Given the description of an element on the screen output the (x, y) to click on. 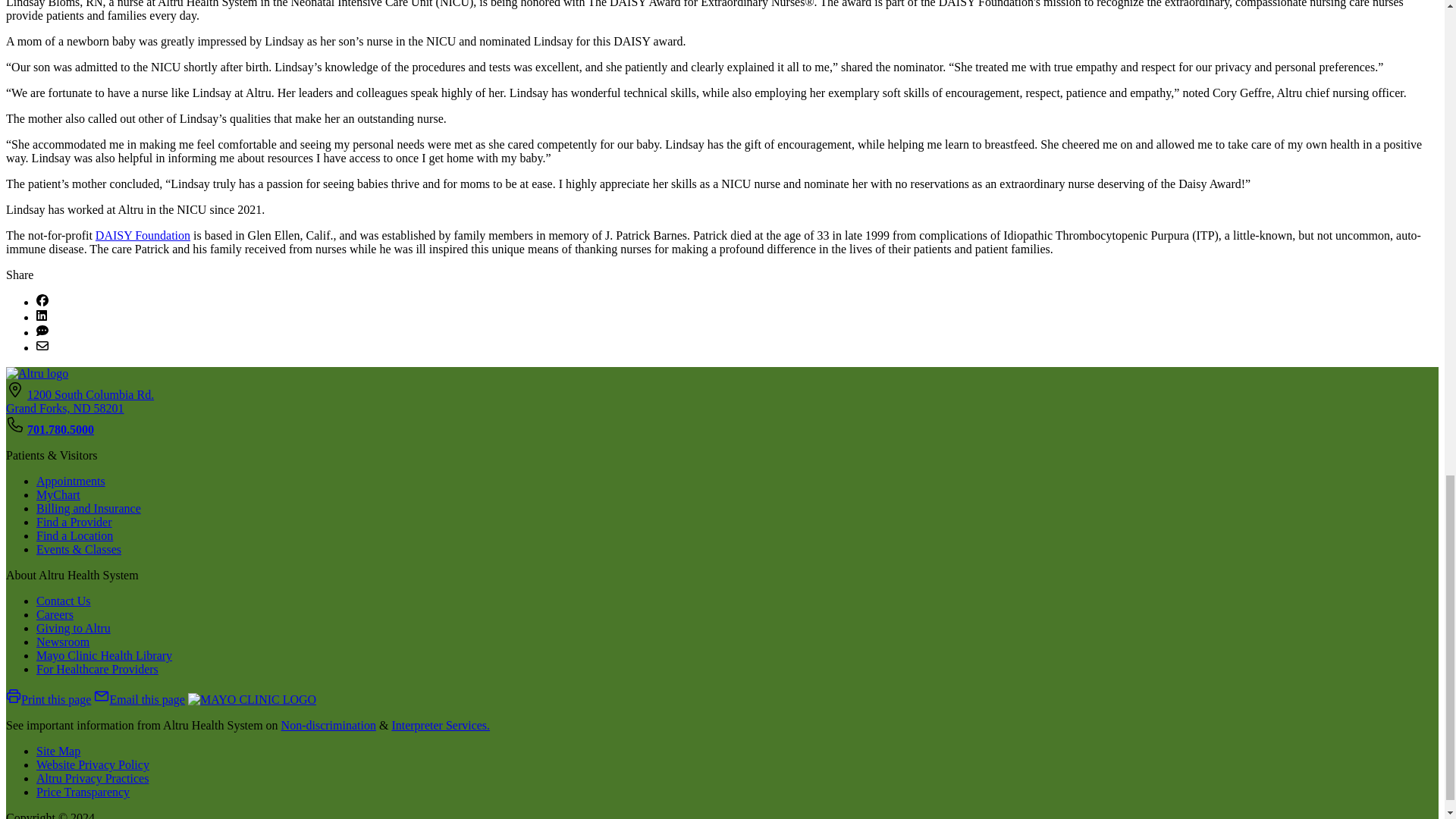
Email (42, 347)
Facebook (42, 301)
Linkedin (41, 317)
